Given the description of an element on the screen output the (x, y) to click on. 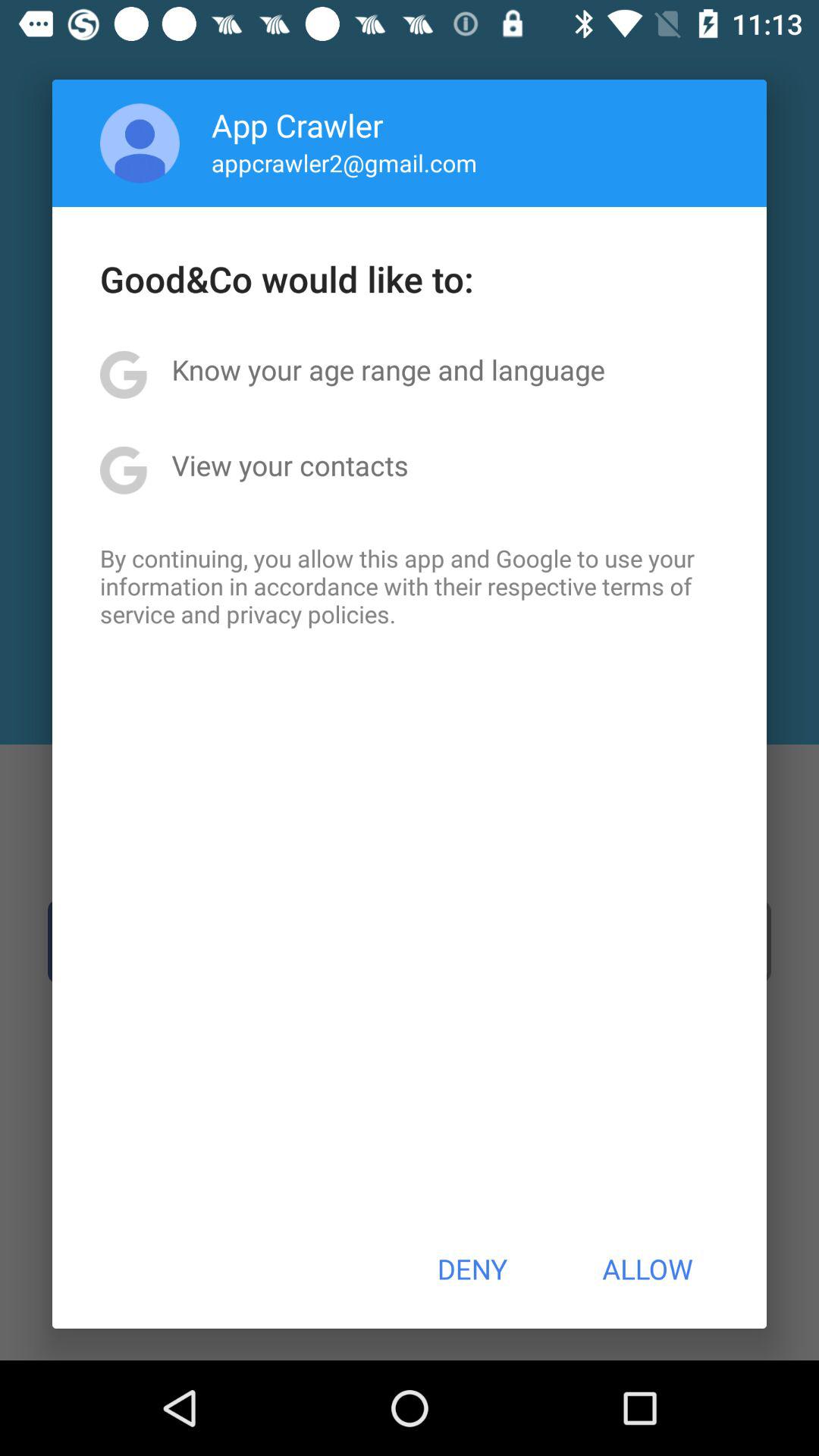
swipe until know your age app (388, 369)
